Given the description of an element on the screen output the (x, y) to click on. 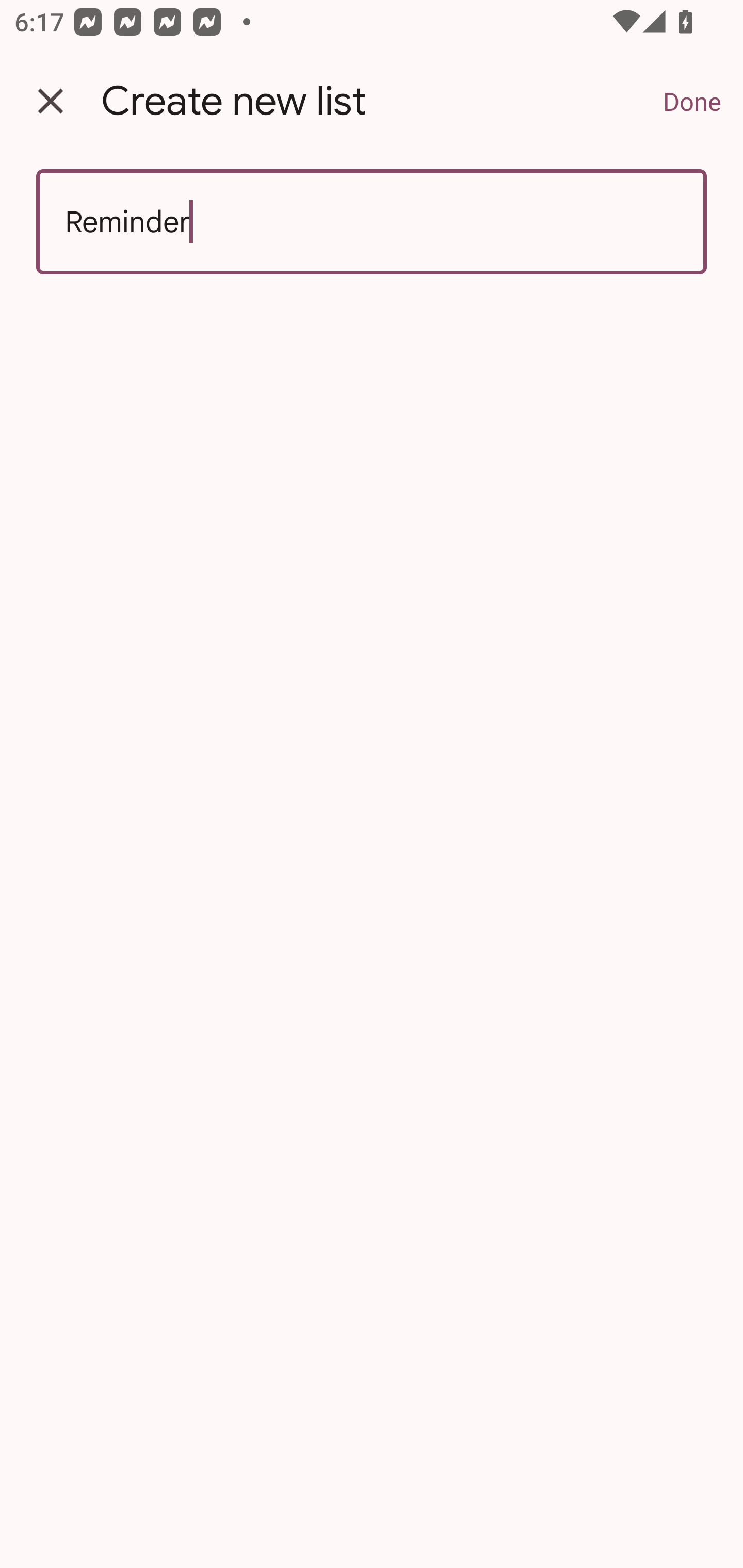
Back (50, 101)
Done (692, 101)
Reminder (371, 221)
